Given the description of an element on the screen output the (x, y) to click on. 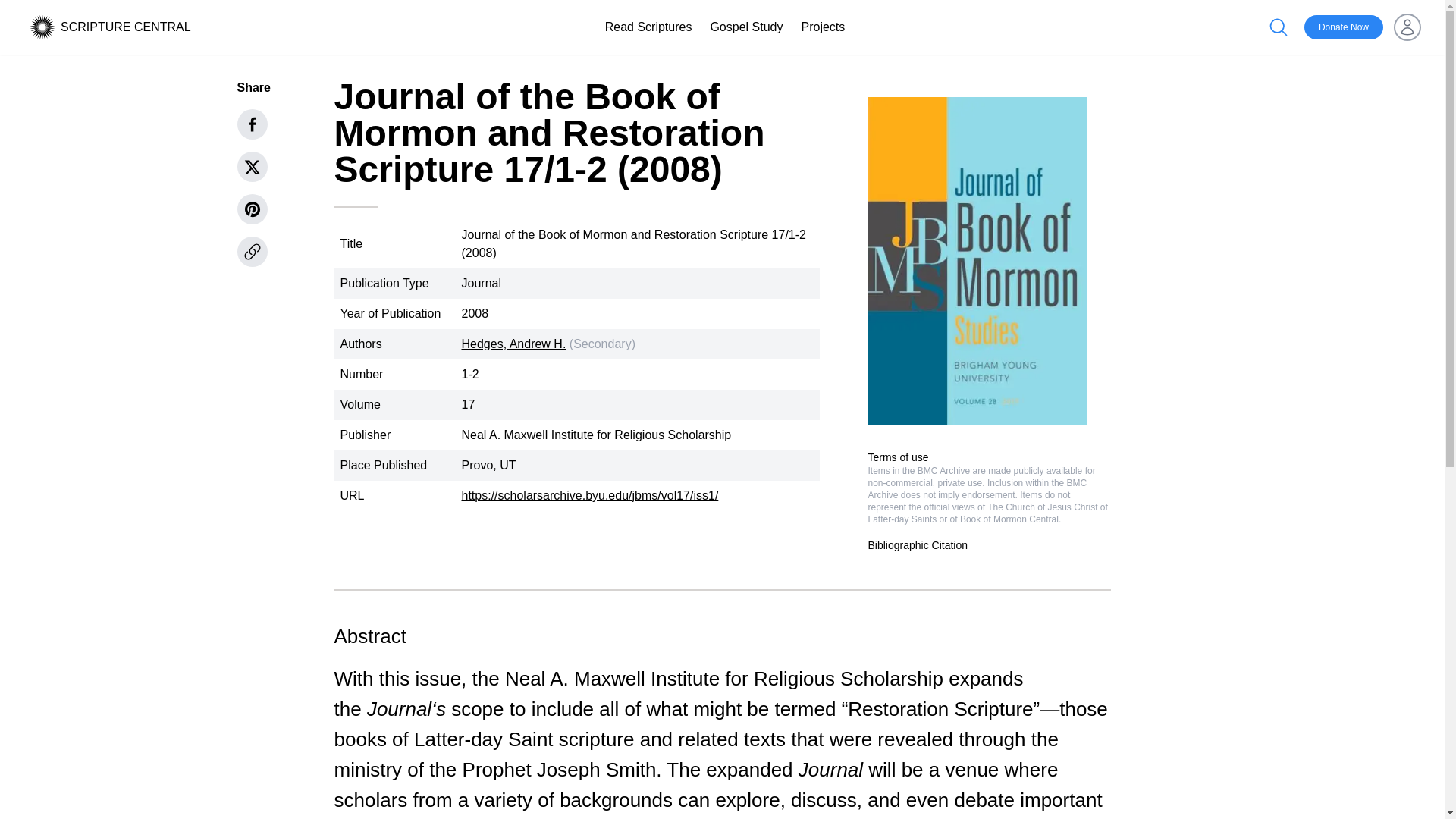
Projects (822, 26)
Donate Now (1343, 27)
Read Scriptures (649, 26)
Read Scriptures (649, 27)
Open user menu (1406, 27)
Hedges, Andrew H. (513, 343)
SCRIPTURE CENTRAL (125, 27)
Gospel Study (746, 26)
Gospel Study (746, 27)
